Given the description of an element on the screen output the (x, y) to click on. 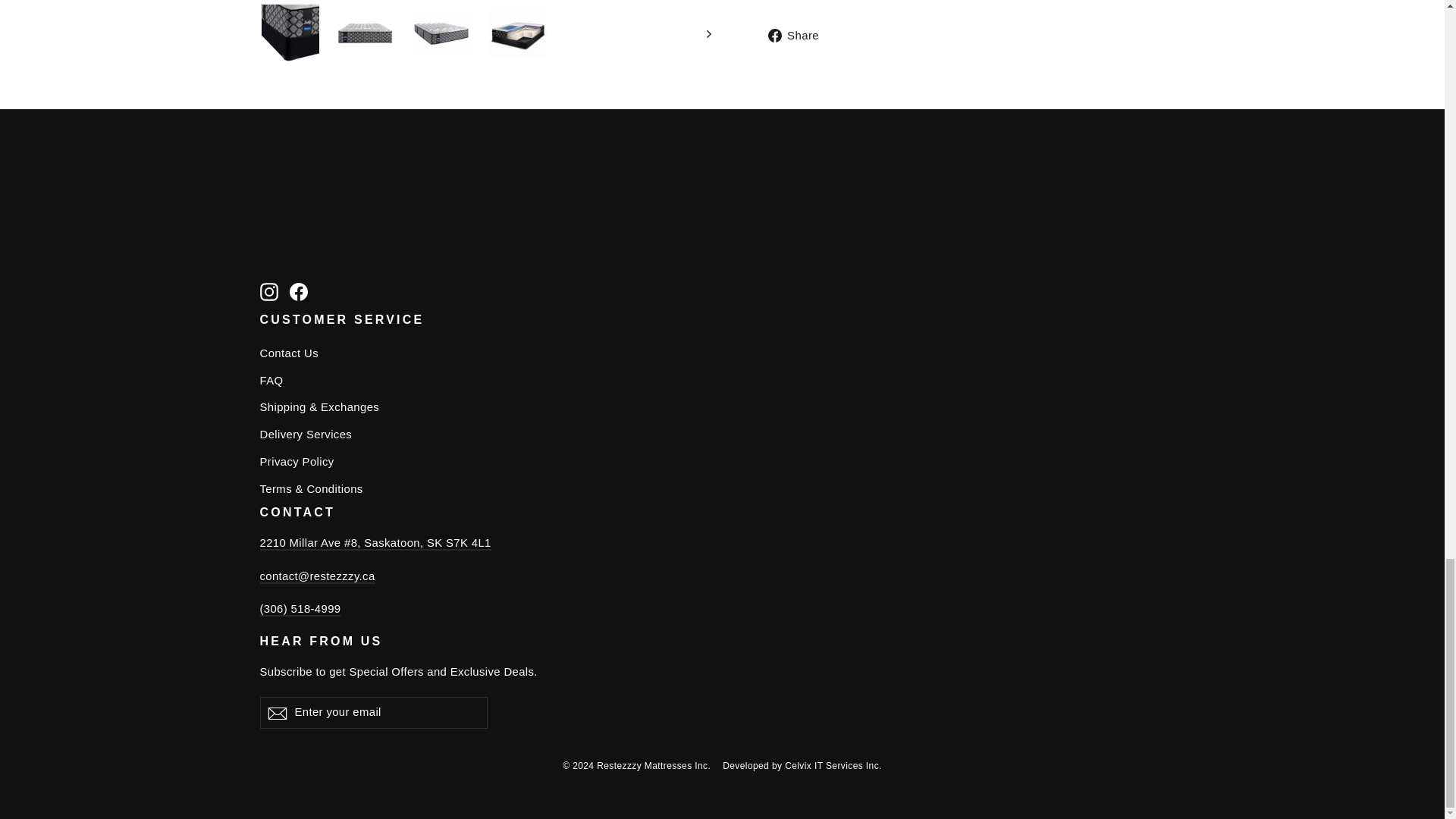
icon-email (276, 713)
instagram (268, 291)
Restezzzy Mattresses Inc. on Facebook (298, 291)
Restezzzy Mattresses Inc. on Instagram (268, 291)
Share on Facebook (798, 35)
